Given the description of an element on the screen output the (x, y) to click on. 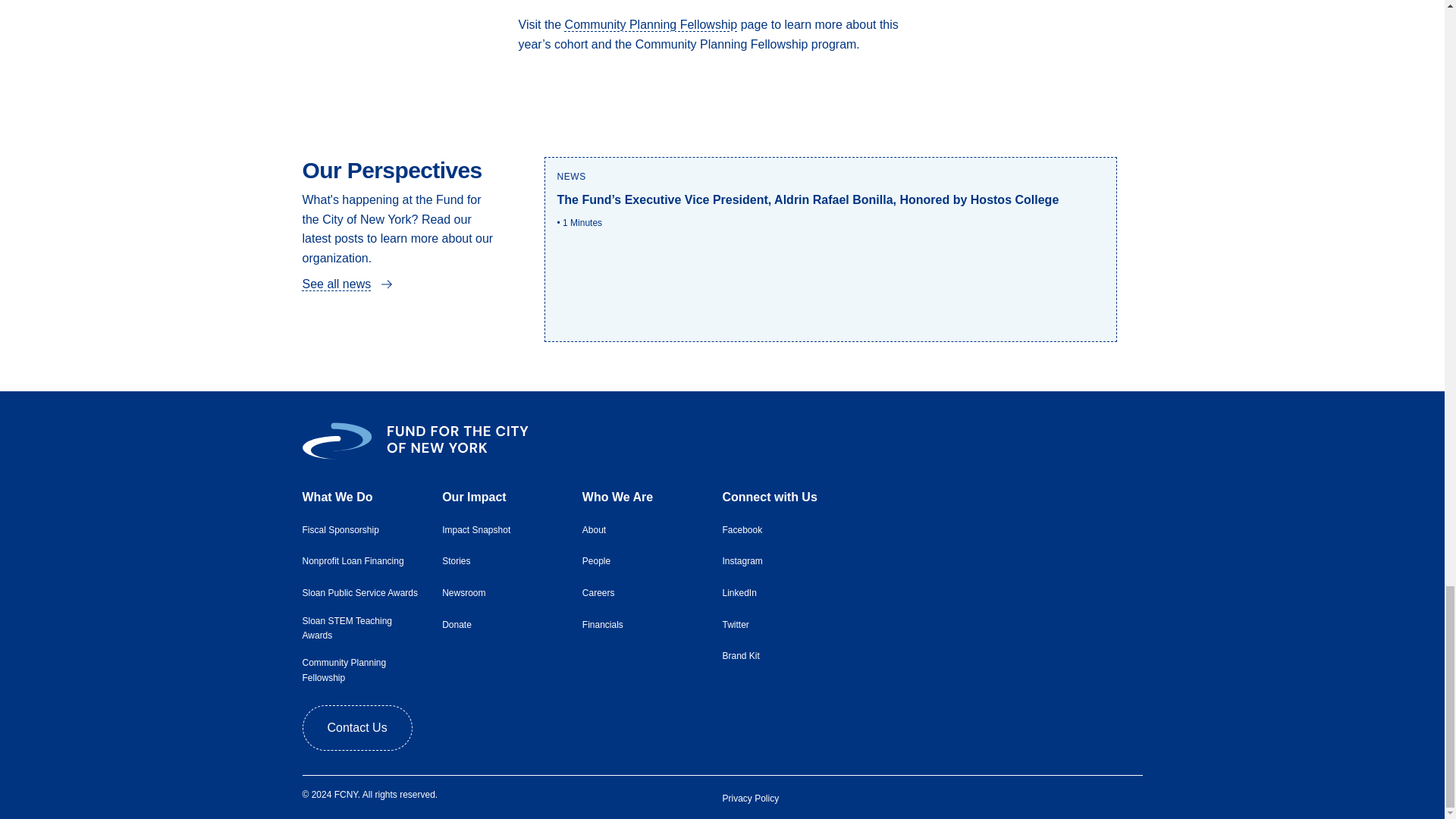
Community Planning Fellowship (651, 25)
See all news (336, 284)
